Given the description of an element on the screen output the (x, y) to click on. 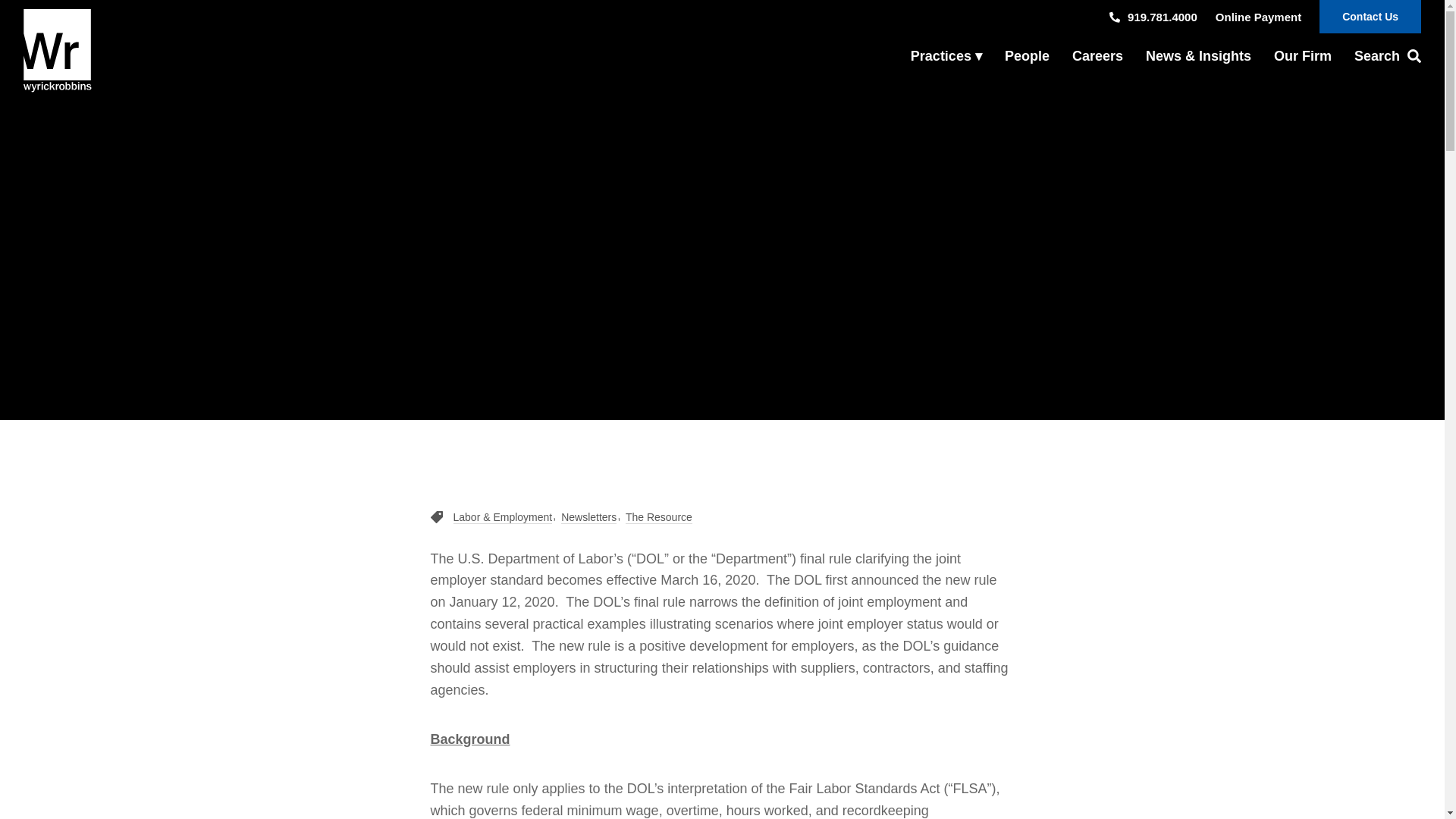
Contact Us (1370, 16)
Search (1381, 56)
Our Firm (1302, 56)
The Resource (659, 517)
Newsletters (587, 517)
Practices (945, 56)
Online Payment (1258, 16)
919.781.4000 (1152, 16)
Careers (1097, 56)
